Given the description of an element on the screen output the (x, y) to click on. 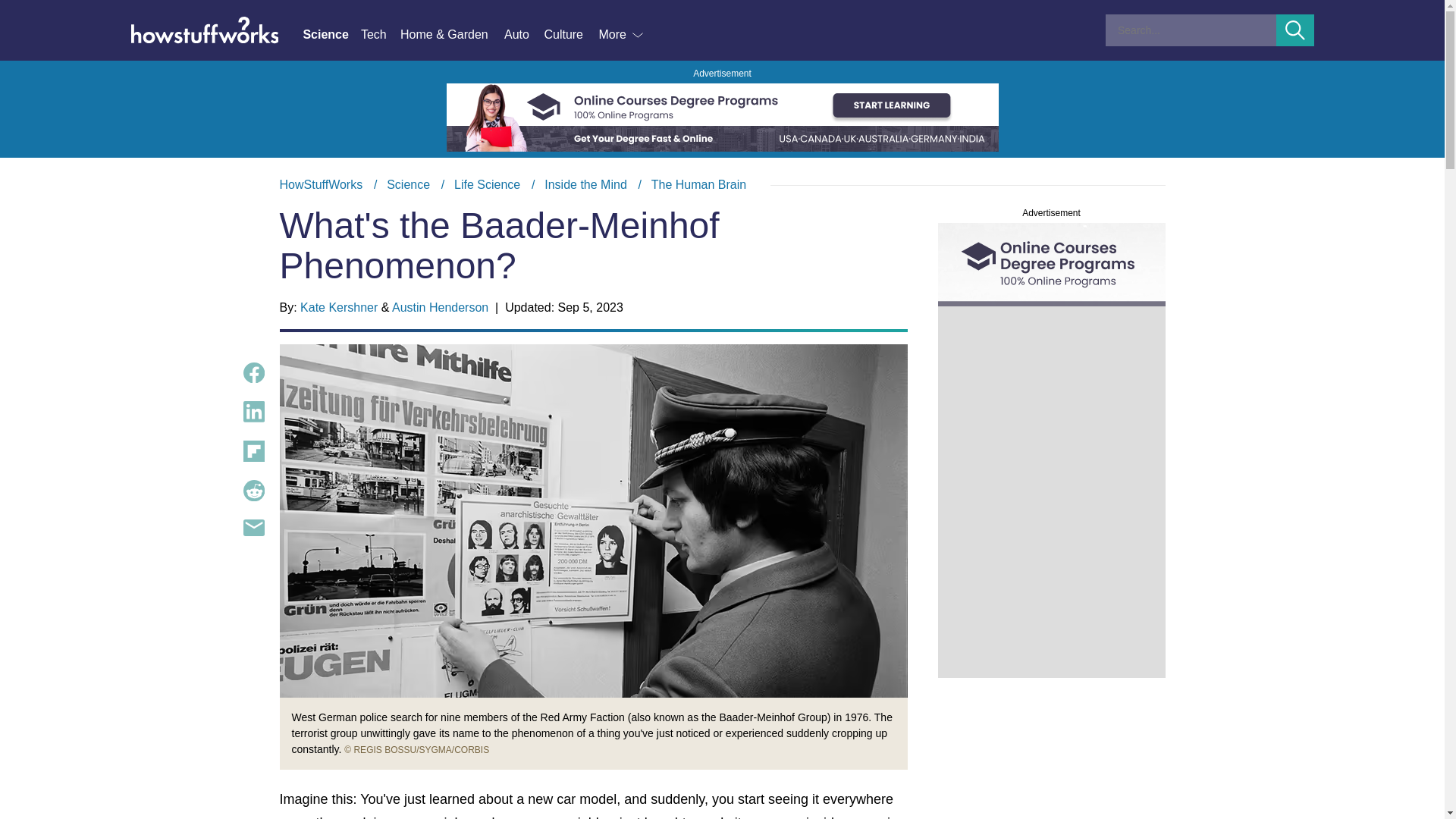
Share Content on Facebook (253, 372)
Inside the Mind (585, 184)
More (621, 34)
Culture (570, 34)
Share Content on LinkedIn (253, 411)
Science (330, 34)
Science (408, 184)
Share Content on Flipboard (253, 450)
Auto (523, 34)
